Given the description of an element on the screen output the (x, y) to click on. 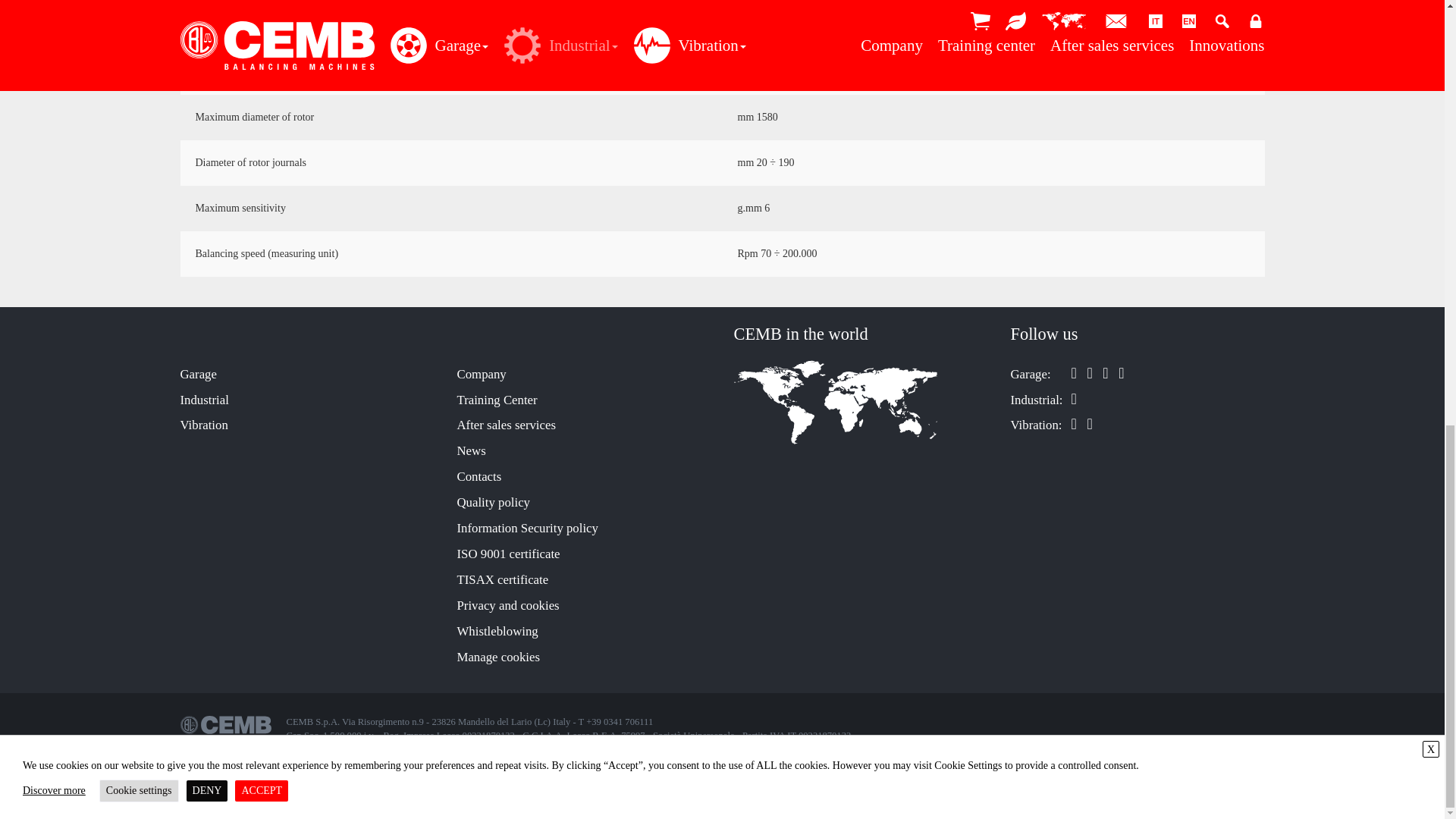
Downloads (857, 9)
More info (1128, 9)
Technical data (315, 9)
Size (586, 9)
